Given the description of an element on the screen output the (x, y) to click on. 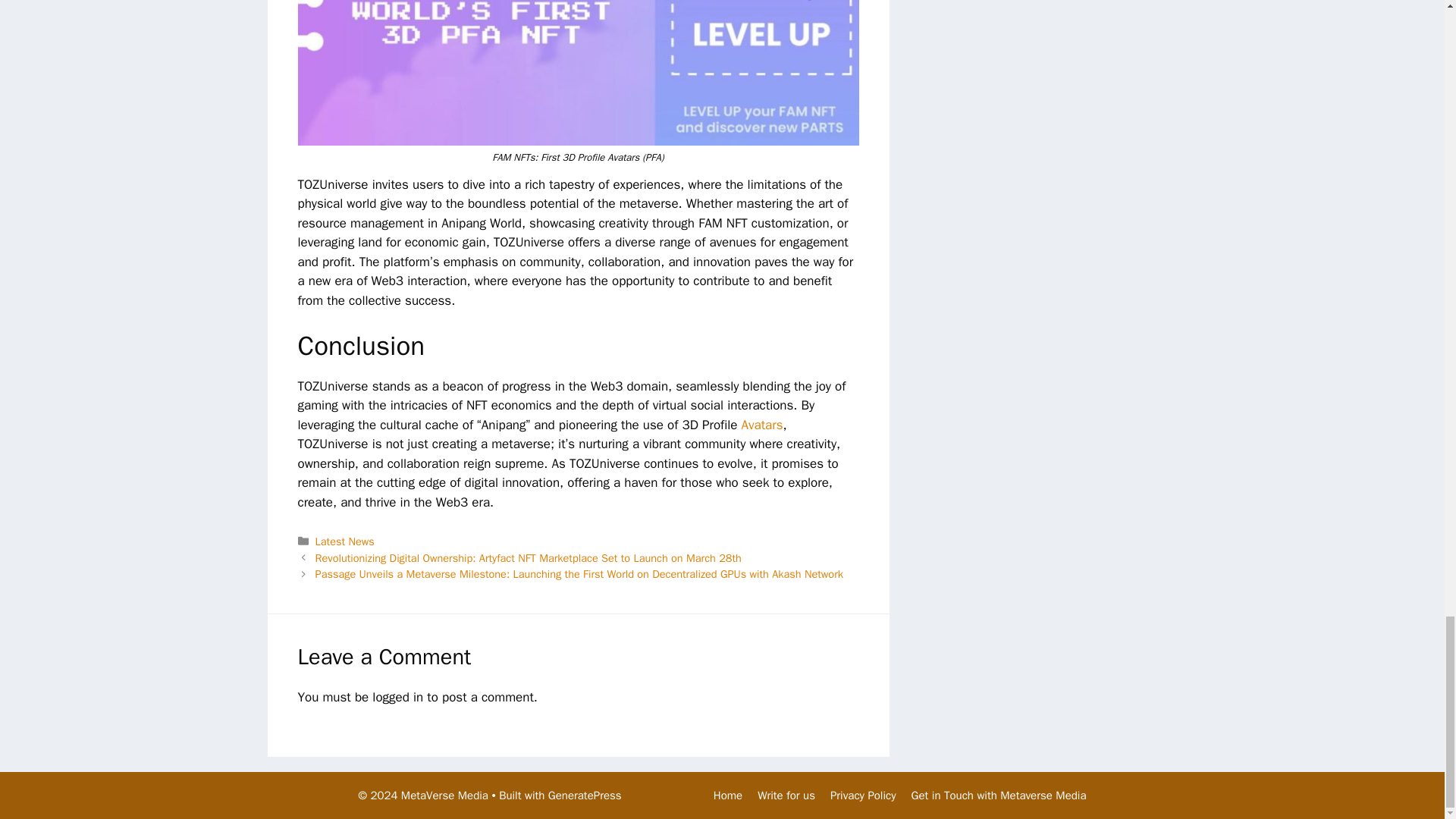
GeneratePress (584, 795)
Get in Touch with Metaverse Media (998, 795)
Avatars (762, 424)
Latest News (344, 540)
Privacy Policy (862, 795)
Home (727, 795)
Write for us (786, 795)
